Given the description of an element on the screen output the (x, y) to click on. 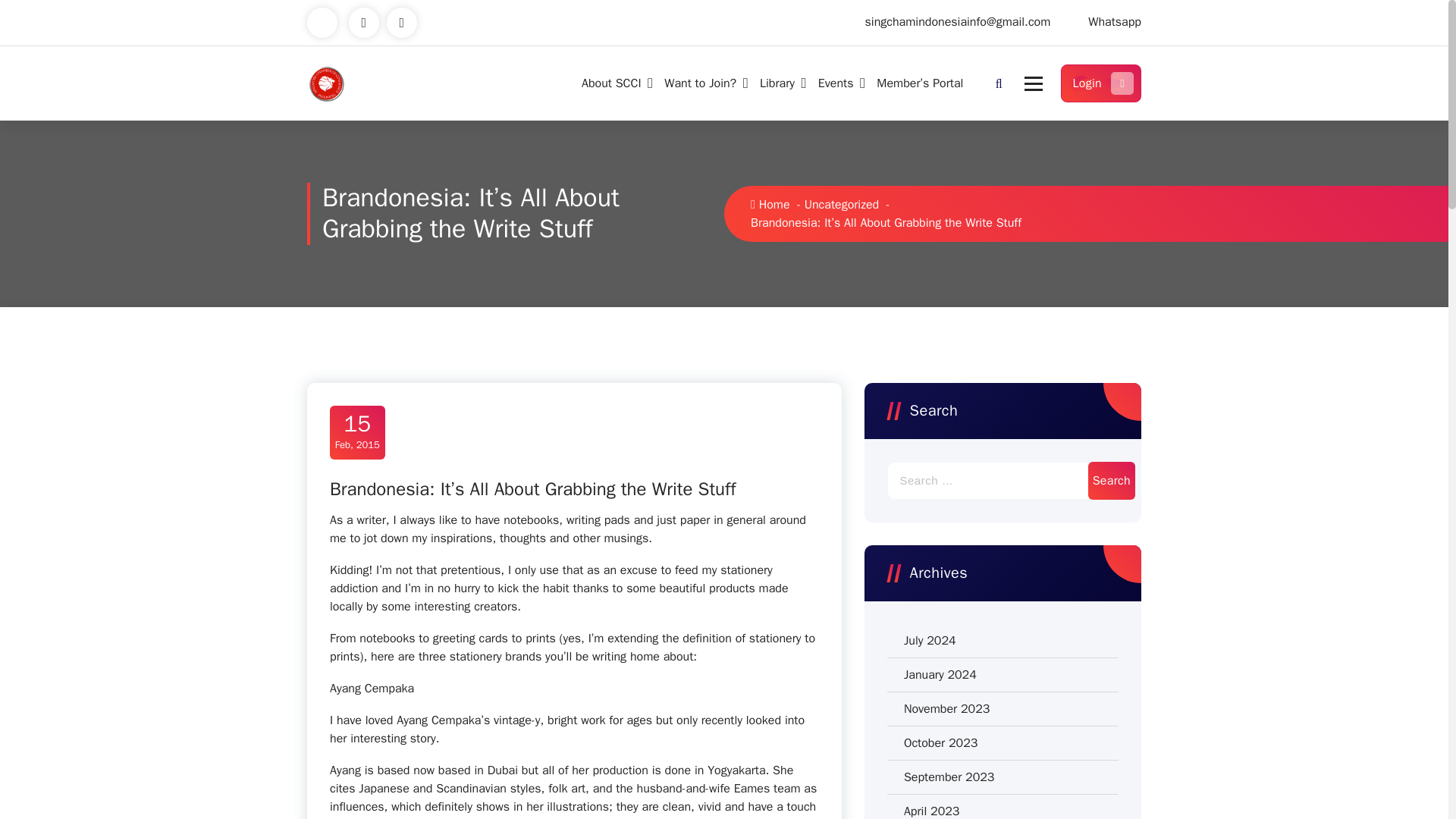
Search (1111, 566)
Search (1111, 566)
Search (1111, 480)
Search (1111, 480)
Whatsapp (1114, 22)
About SCCI (614, 82)
Want to Join? (703, 82)
